Given the description of an element on the screen output the (x, y) to click on. 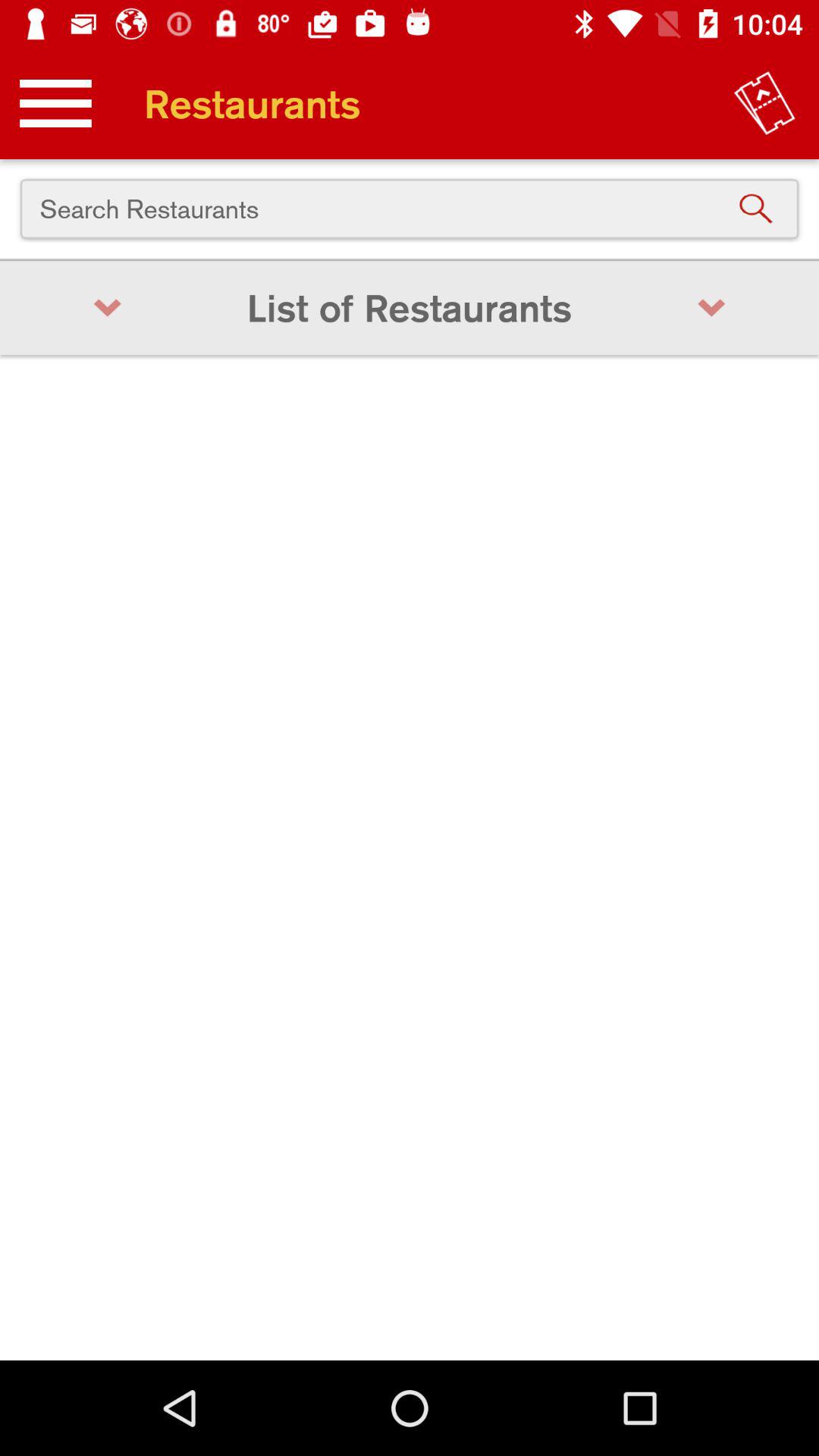
press the icon above search restaurants item (764, 103)
